Given the description of an element on the screen output the (x, y) to click on. 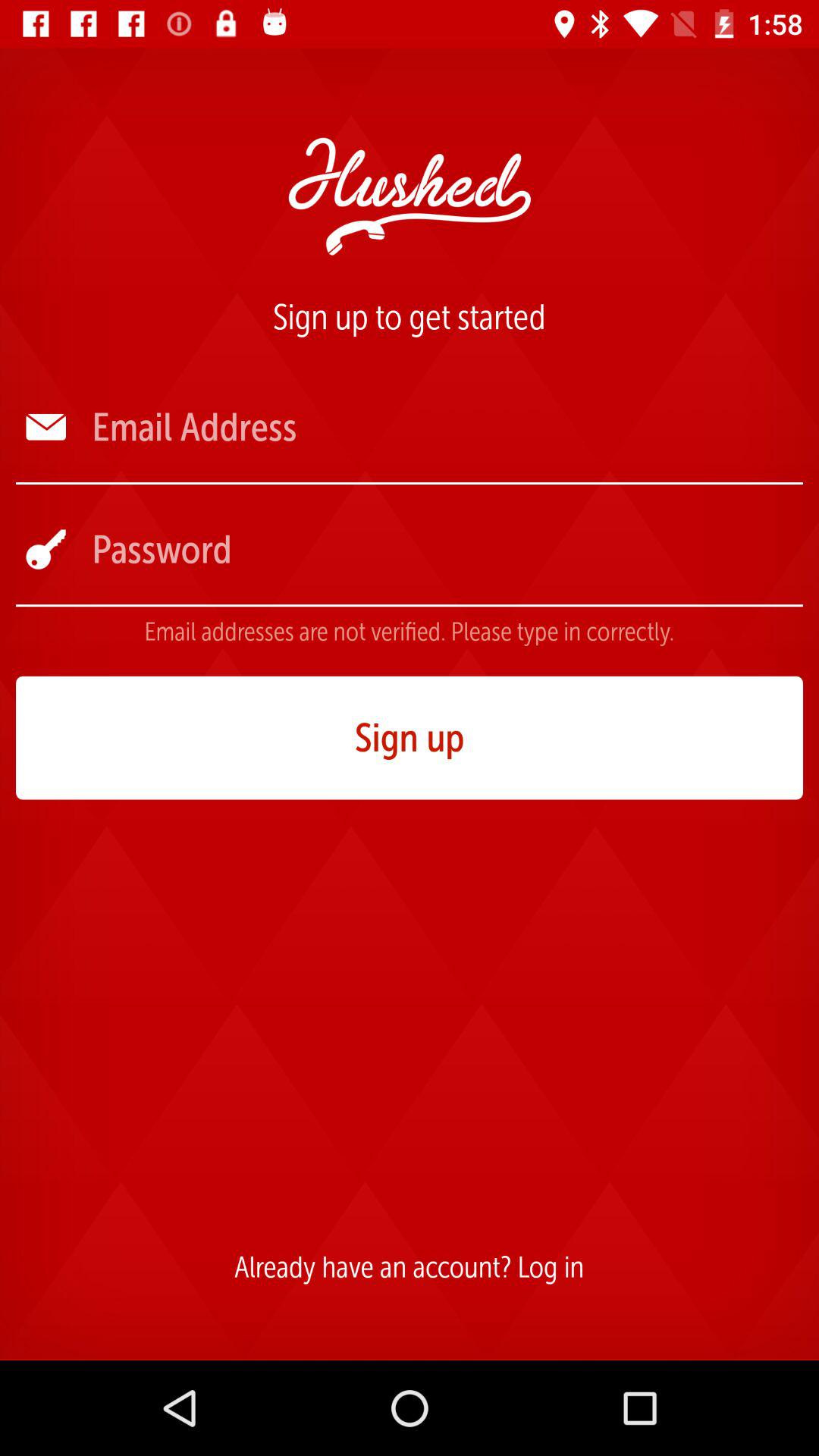
enter the password (446, 549)
